Given the description of an element on the screen output the (x, y) to click on. 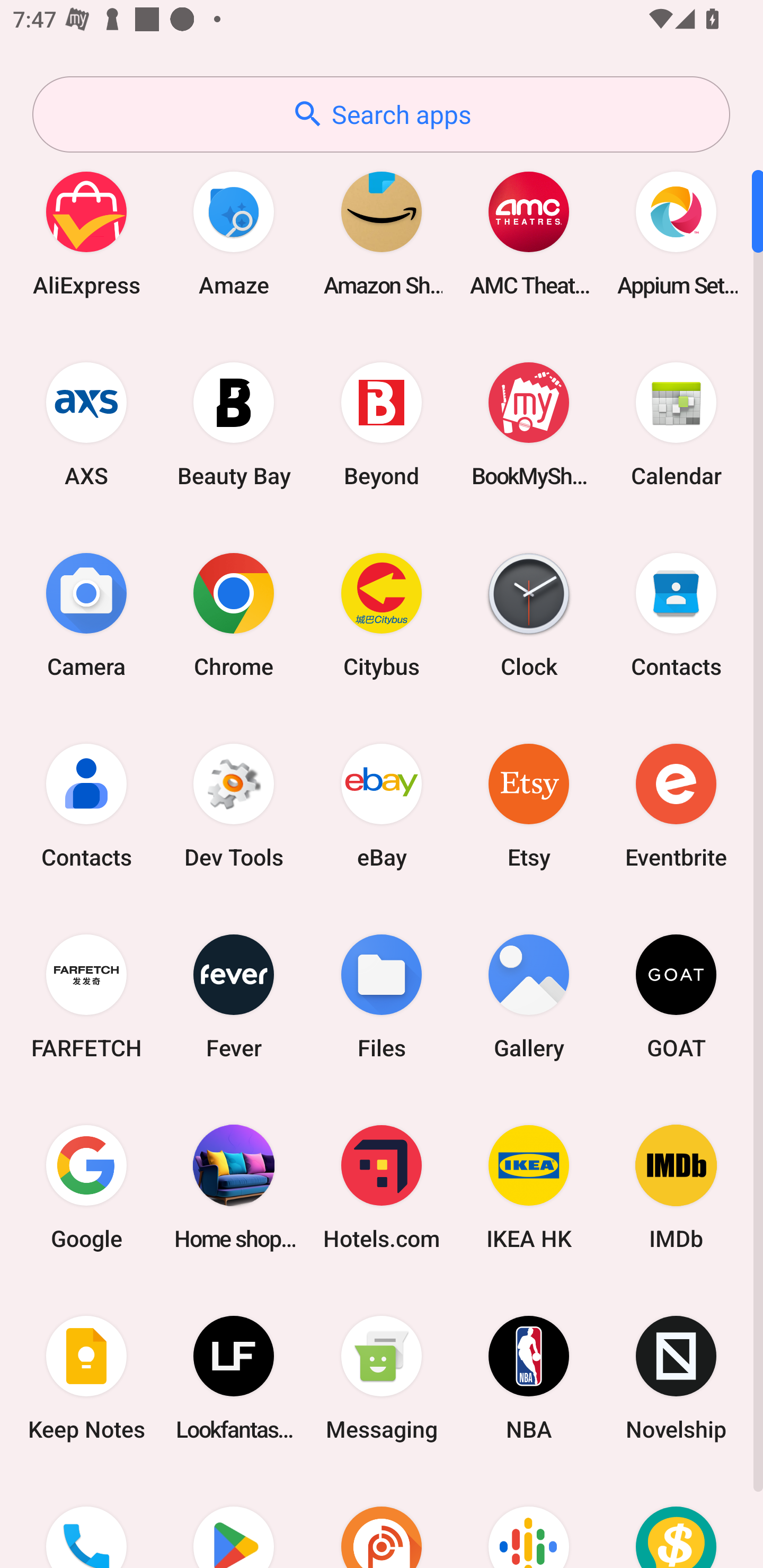
  Search apps (381, 114)
AliExpress (86, 233)
Amaze (233, 233)
Amazon Shopping (381, 233)
AMC Theatres (528, 233)
Appium Settings (676, 233)
AXS (86, 424)
Beauty Bay (233, 424)
Beyond (381, 424)
BookMyShow (528, 424)
Calendar (676, 424)
Camera (86, 614)
Chrome (233, 614)
Citybus (381, 614)
Clock (528, 614)
Contacts (676, 614)
Contacts (86, 805)
Dev Tools (233, 805)
eBay (381, 805)
Etsy (528, 805)
Eventbrite (676, 805)
FARFETCH (86, 996)
Fever (233, 996)
Files (381, 996)
Gallery (528, 996)
GOAT (676, 996)
Google (86, 1186)
Home shopping (233, 1186)
Hotels.com (381, 1186)
IKEA HK (528, 1186)
IMDb (676, 1186)
Keep Notes (86, 1377)
Lookfantastic (233, 1377)
Messaging (381, 1377)
NBA (528, 1377)
Novelship (676, 1377)
Phone (86, 1520)
Play Store (233, 1520)
Podcast Addict (381, 1520)
Podcasts (528, 1520)
Price (676, 1520)
